Given the description of an element on the screen output the (x, y) to click on. 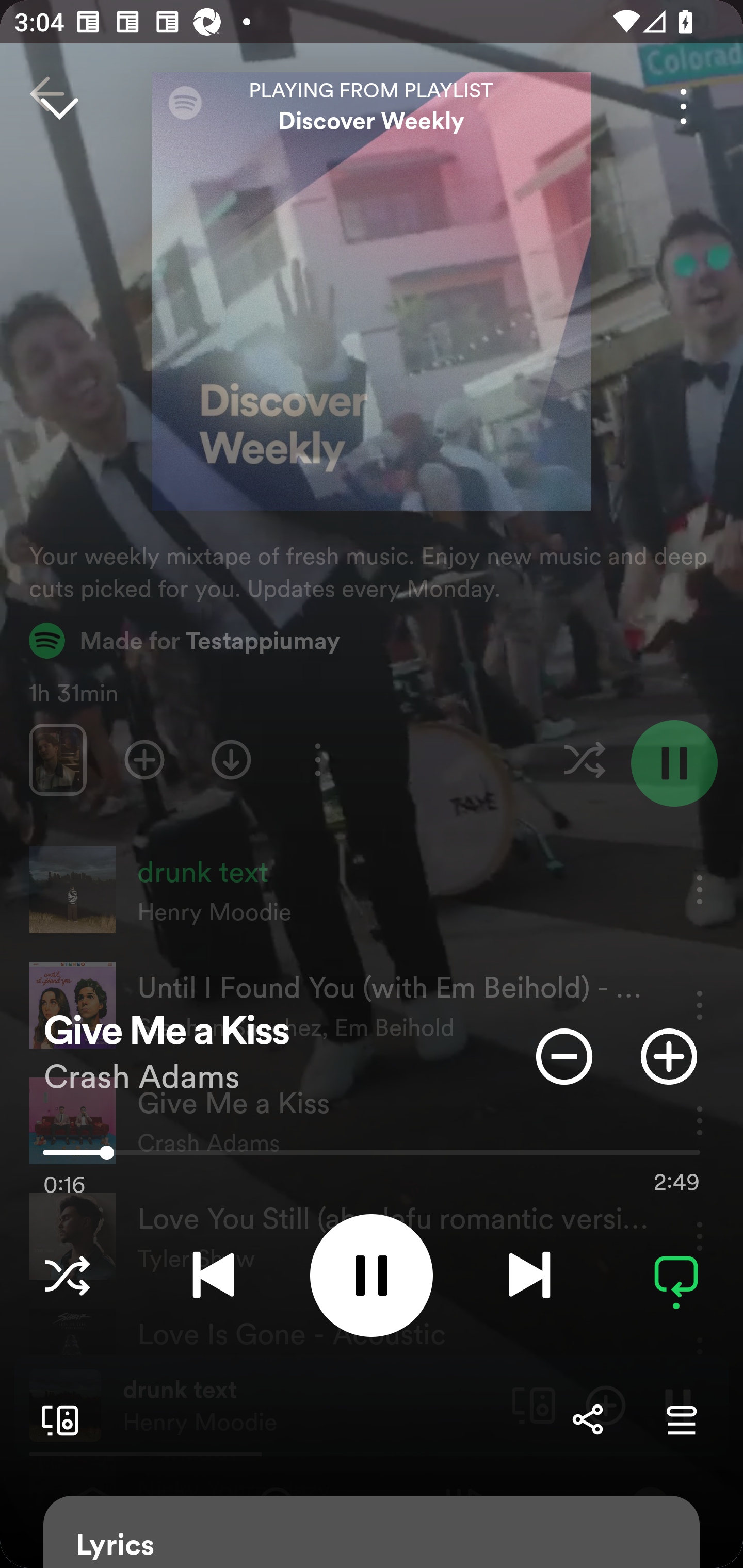
Close (59, 106)
More options for song Give Me a Kiss (683, 106)
PLAYING FROM PLAYLIST Discover Weekly (371, 106)
Don't play this (564, 1056)
Add item (669, 1056)
0:15 2:49 15674.0 Use volume keys to adjust (371, 1157)
Pause (371, 1275)
Previous (212, 1275)
Next (529, 1275)
Shuffle tracks (66, 1275)
Repeat (676, 1275)
Share (587, 1419)
Go to Queue (681, 1419)
Connect to a device. Opens the devices menu (55, 1419)
Lyrics (371, 1531)
